Given the description of an element on the screen output the (x, y) to click on. 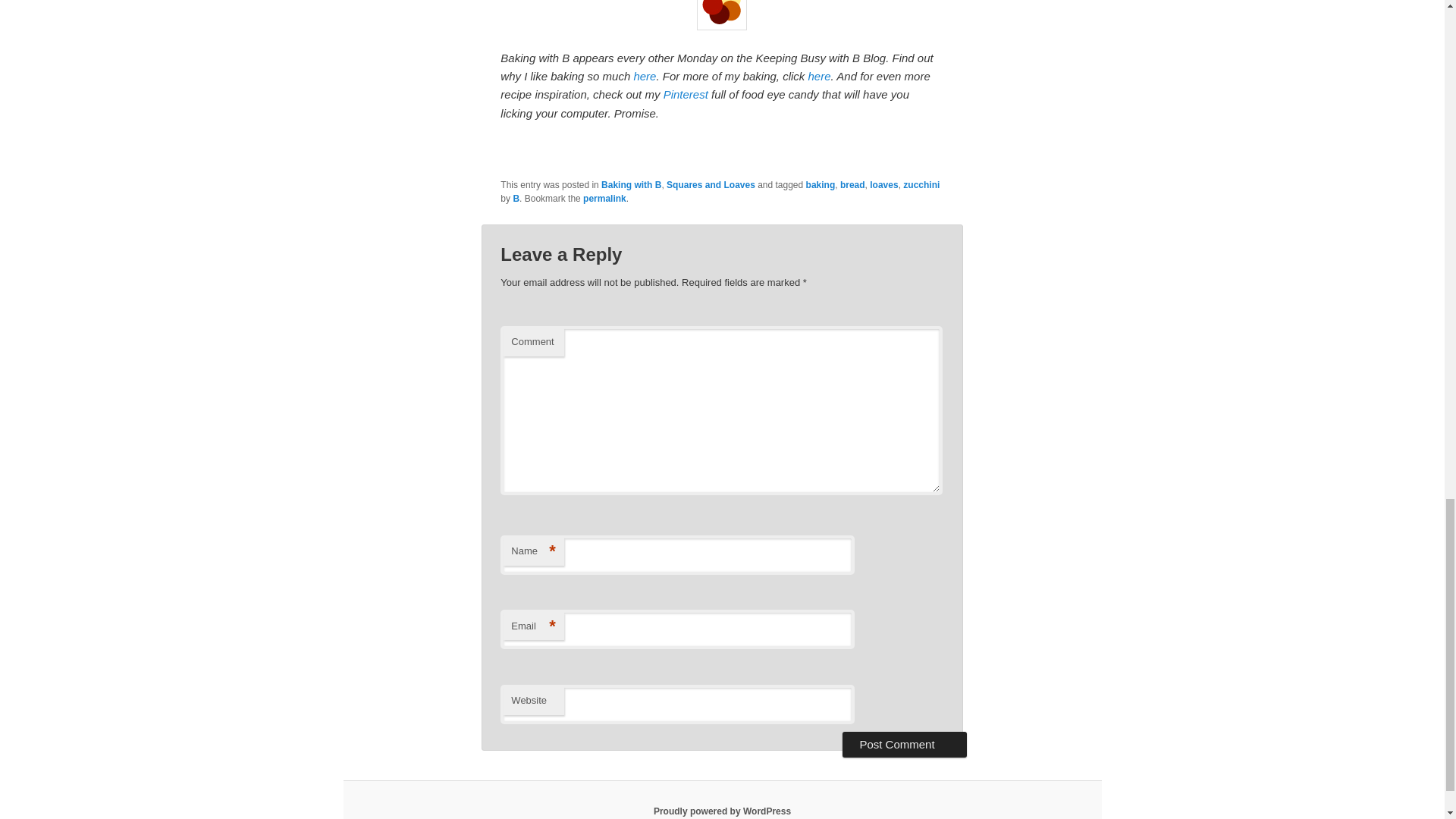
Semantic Personal Publishing Platform (721, 810)
Pinterest (685, 93)
Permalink to Baking with B: Zucchini Bread (604, 198)
baking (820, 184)
Squares and Loaves (710, 184)
Baking (819, 75)
here (819, 75)
Baking with B (631, 184)
Post Comment (904, 744)
bread (852, 184)
